Given the description of an element on the screen output the (x, y) to click on. 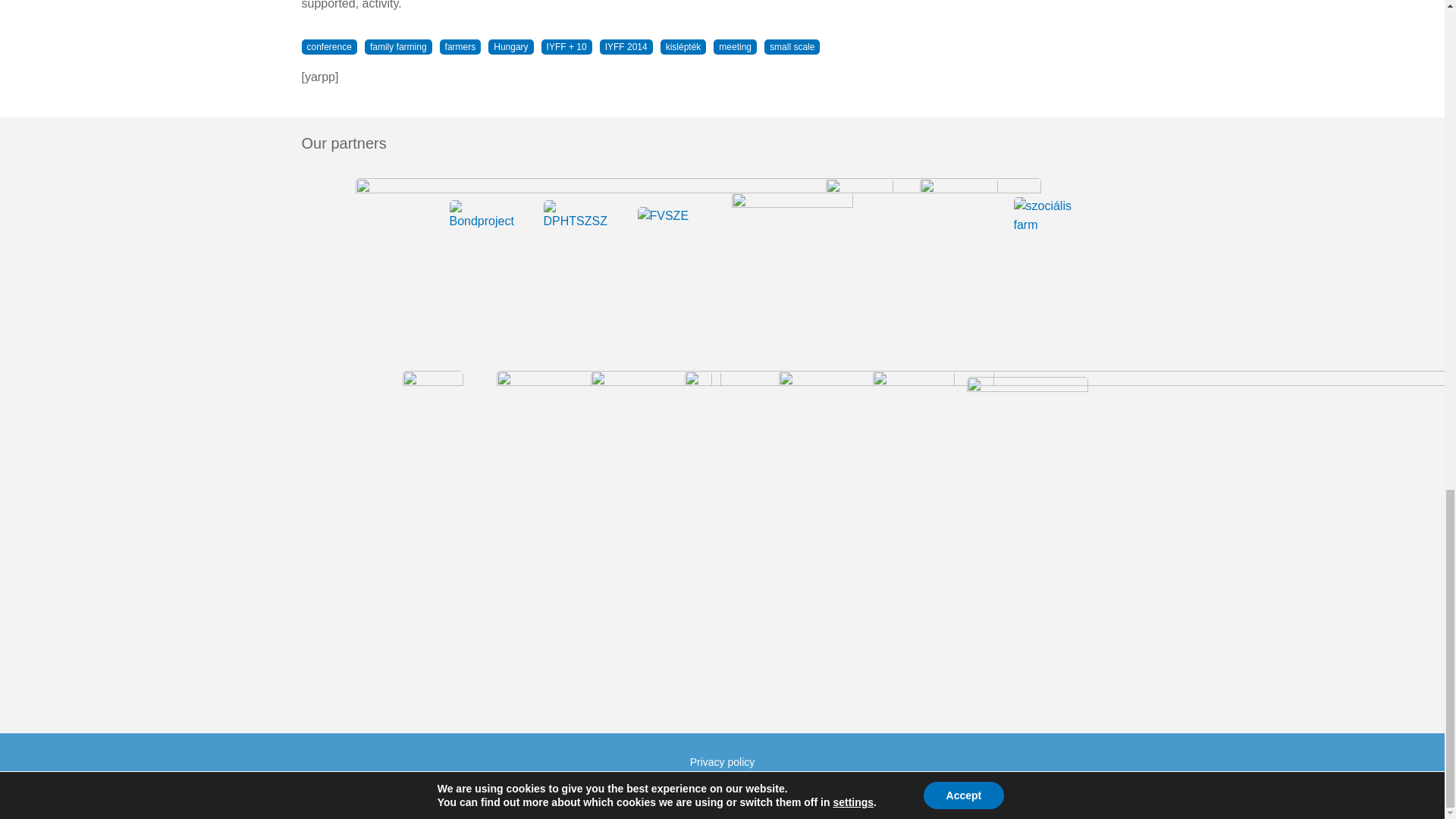
Hungary (509, 46)
IYFF 2014 (625, 46)
conference (328, 46)
small scale (791, 46)
meeting (735, 46)
family farming (398, 46)
farmers (460, 46)
